Given the description of an element on the screen output the (x, y) to click on. 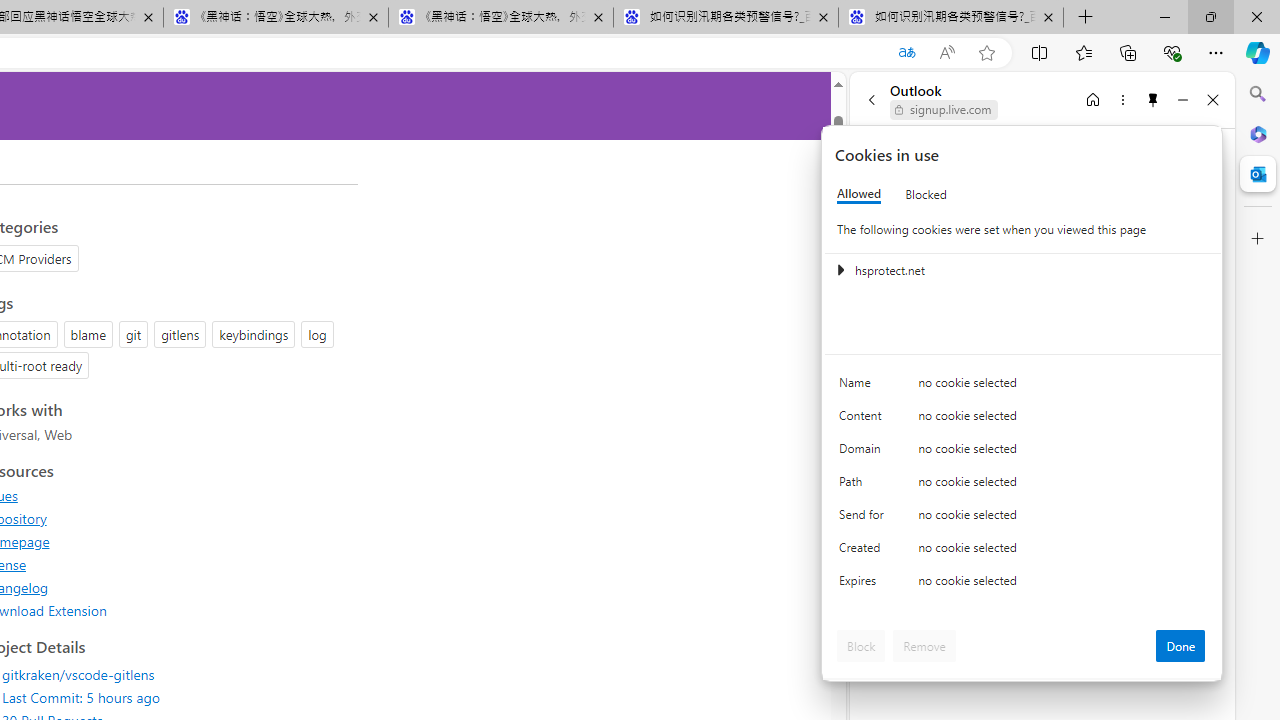
Blocked (925, 193)
no cookie selected (1062, 585)
Block (861, 645)
Class: c0153 c0157 (1023, 584)
Allowed (859, 193)
Domain (864, 452)
Class: c0153 c0157 c0154 (1023, 386)
Send for (864, 518)
Done (1179, 645)
Path (864, 485)
Expires (864, 585)
Content (864, 420)
Remove (924, 645)
Created (864, 552)
Name (864, 387)
